Given the description of an element on the screen output the (x, y) to click on. 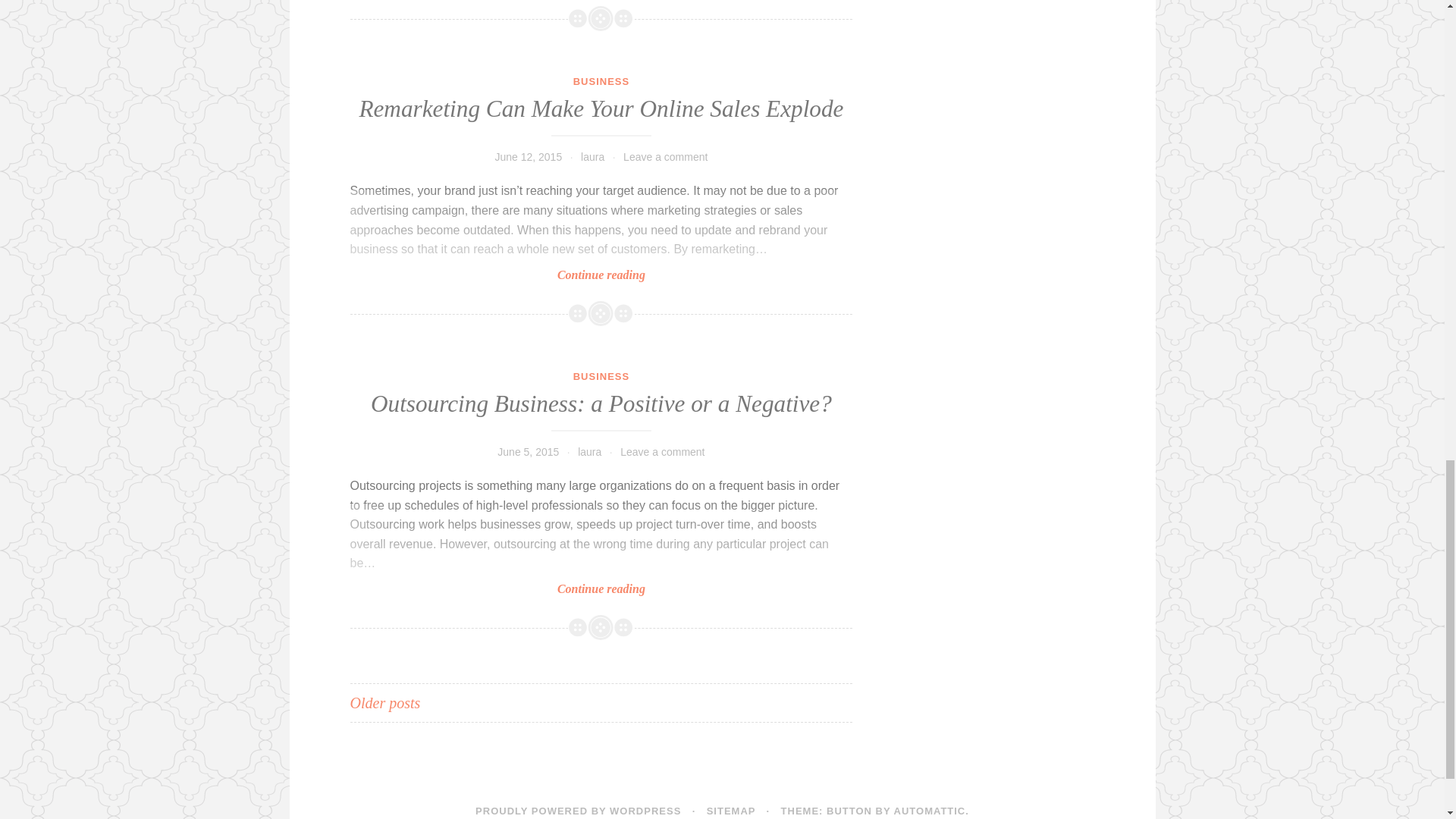
BUSINESS (600, 376)
laura (592, 156)
laura (589, 451)
June 5, 2015 (528, 451)
Leave a comment (662, 451)
BUSINESS (600, 81)
Leave a comment (665, 156)
Older posts (385, 702)
Outsourcing Business: a Positive or a Negative? (601, 403)
June 12, 2015 (528, 156)
Remarketing Can Make Your Online Sales Explode (600, 108)
